Given the description of an element on the screen output the (x, y) to click on. 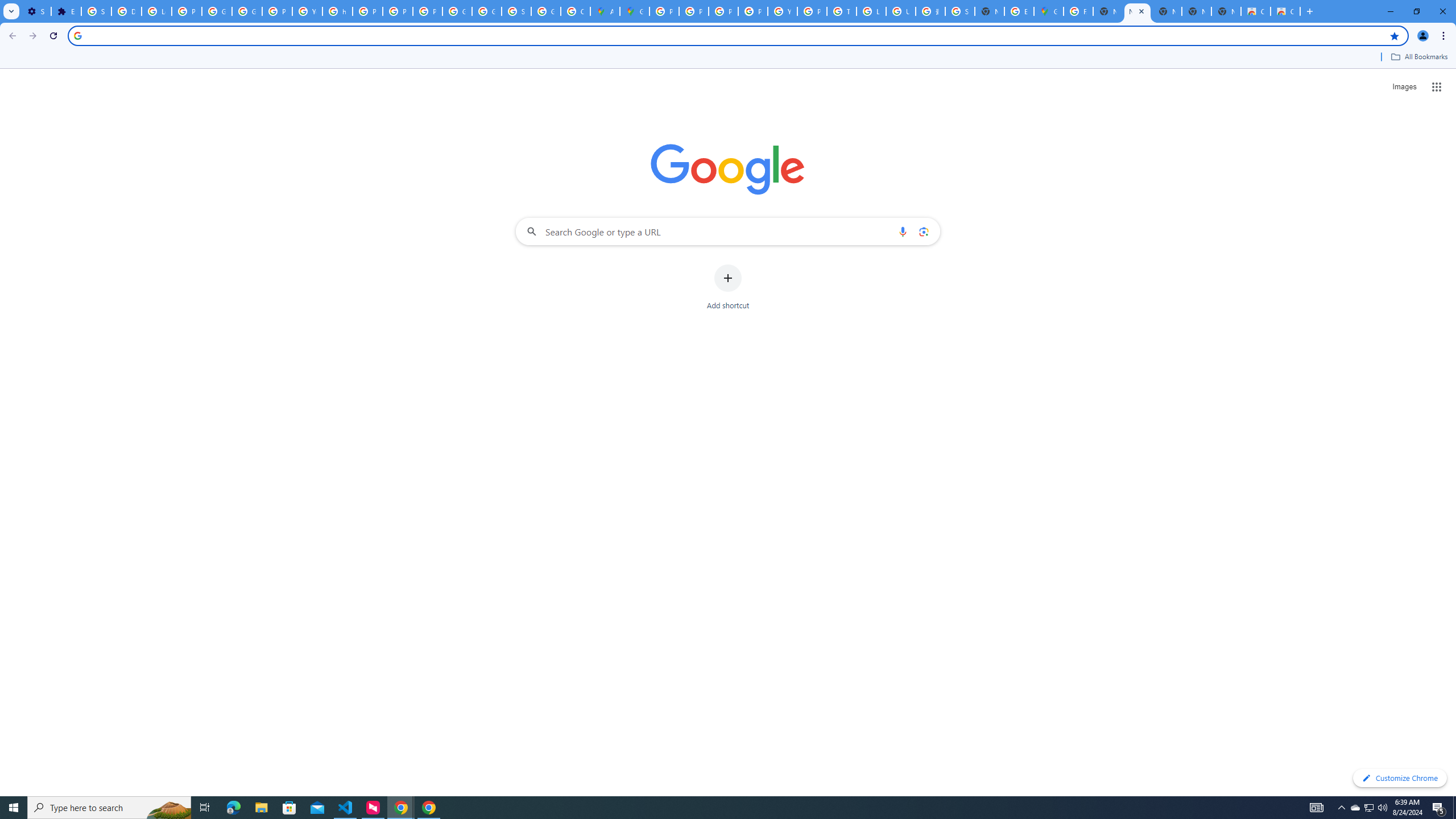
Extensions (65, 11)
You (1422, 35)
New Tab (1226, 11)
Policy Accountability and Transparency - Transparency Center (664, 11)
Explore new street-level details - Google Maps Help (1018, 11)
Forward (32, 35)
New Tab (1309, 11)
Sign in - Google Accounts (515, 11)
Sign in - Google Accounts (959, 11)
Privacy Help Center - Policies Help (723, 11)
Classic Blue - Chrome Web Store (1284, 11)
Search for Images  (1403, 87)
Address and search bar (735, 35)
Search by image (922, 230)
